Given the description of an element on the screen output the (x, y) to click on. 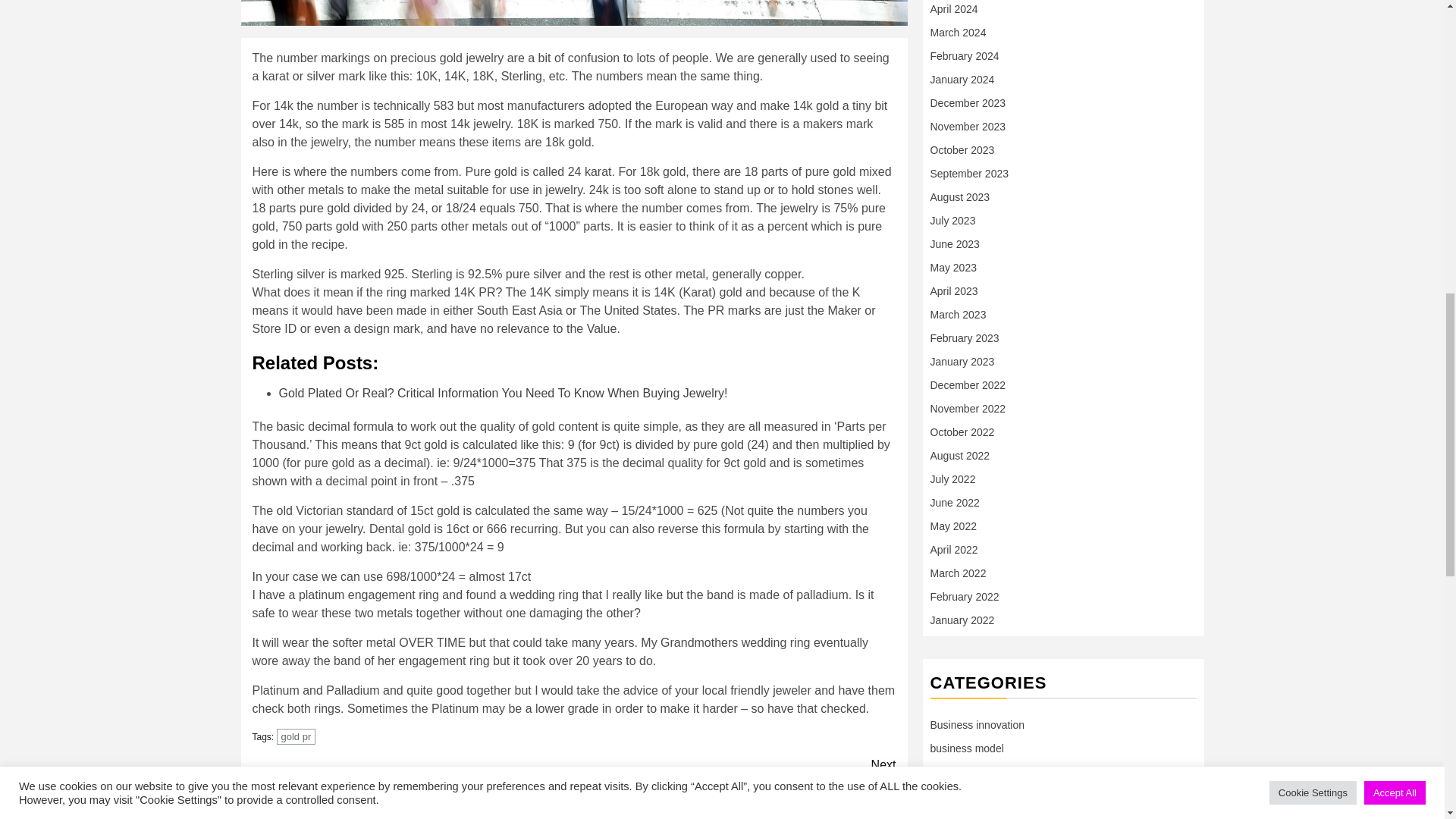
How To Read Jewelry Marks (734, 773)
gold pr (574, 12)
